Given the description of an element on the screen output the (x, y) to click on. 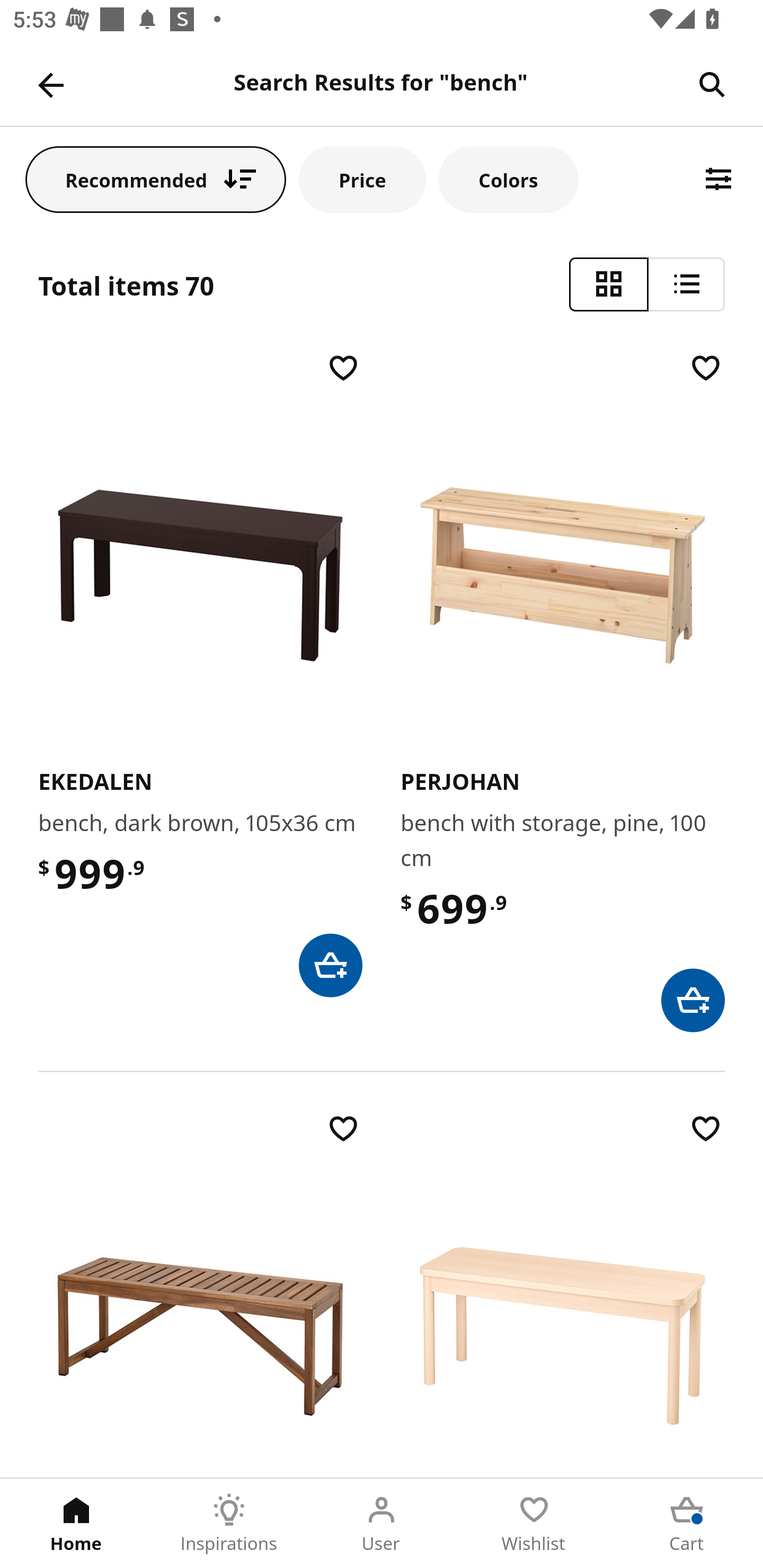
Recommended (155, 179)
Price (362, 179)
Colors (508, 179)
​R​Ö​N​N​I​N​G​E​
bench, birch, 100 cm
$
999
.9 (562, 1293)
Home
Tab 1 of 5 (76, 1522)
Inspirations
Tab 2 of 5 (228, 1522)
User
Tab 3 of 5 (381, 1522)
Wishlist
Tab 4 of 5 (533, 1522)
Cart
Tab 5 of 5 (686, 1522)
